Given the description of an element on the screen output the (x, y) to click on. 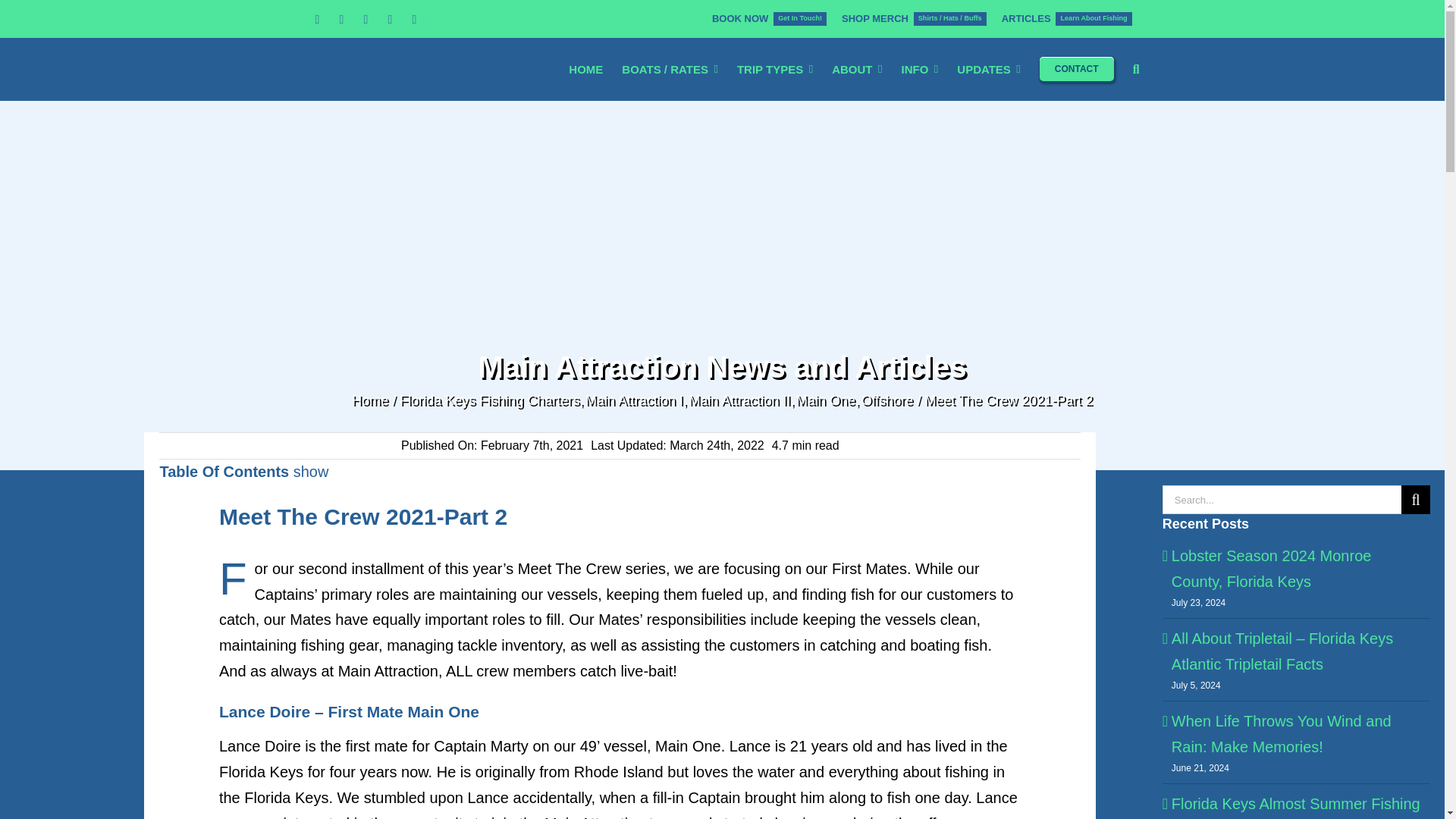
Facebook (316, 19)
INFO (919, 68)
Instagram (769, 18)
Phone (341, 19)
Email (1067, 18)
YouTube (413, 19)
ABOUT (389, 19)
HOME (365, 19)
TRIP TYPES (856, 68)
